Given the description of an element on the screen output the (x, y) to click on. 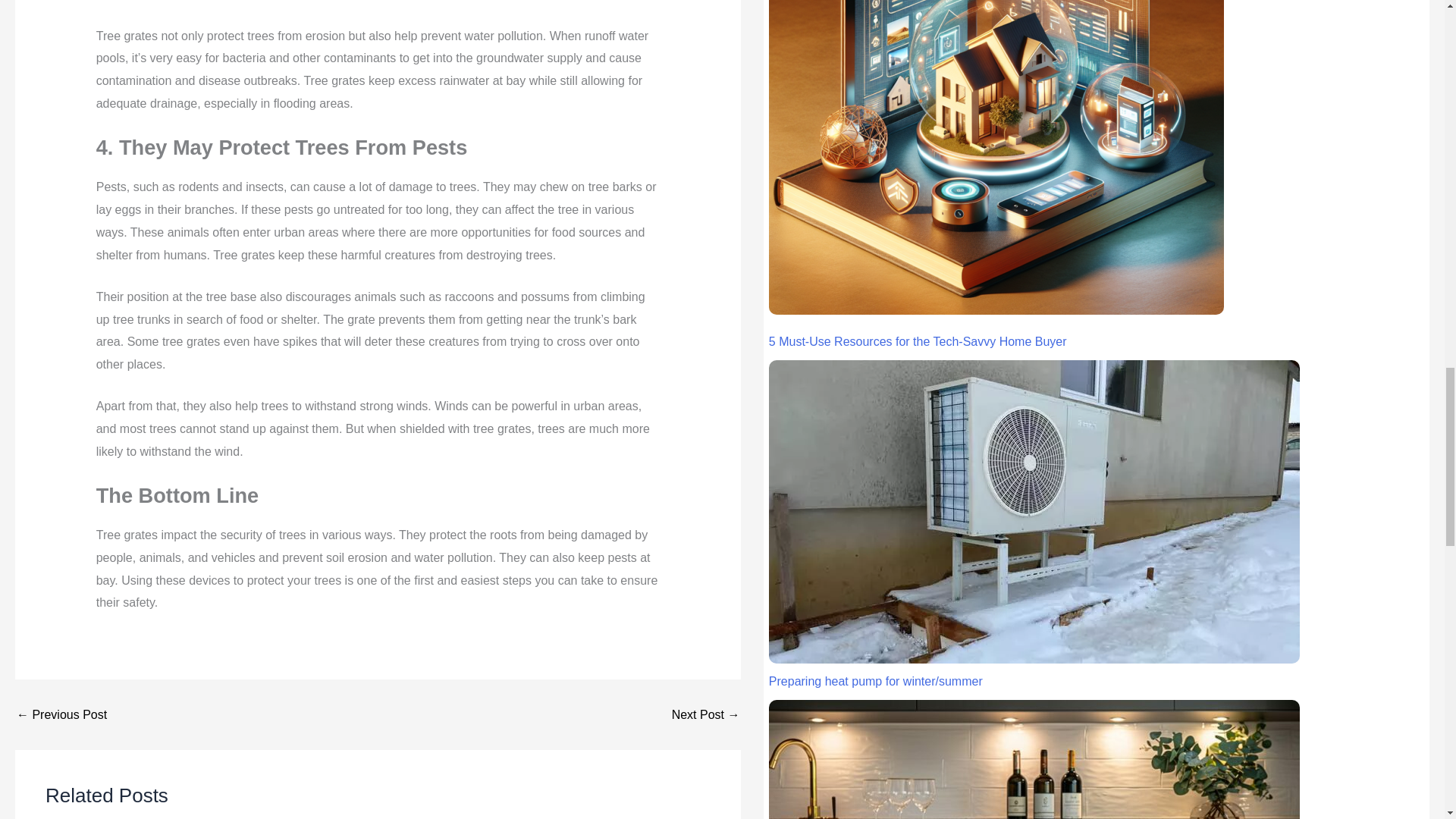
How Can You Save Money on Your Cooling Expenses? (61, 715)
5 Reasons to Display Yard Letters to Promote Your Business (705, 715)
